Given the description of an element on the screen output the (x, y) to click on. 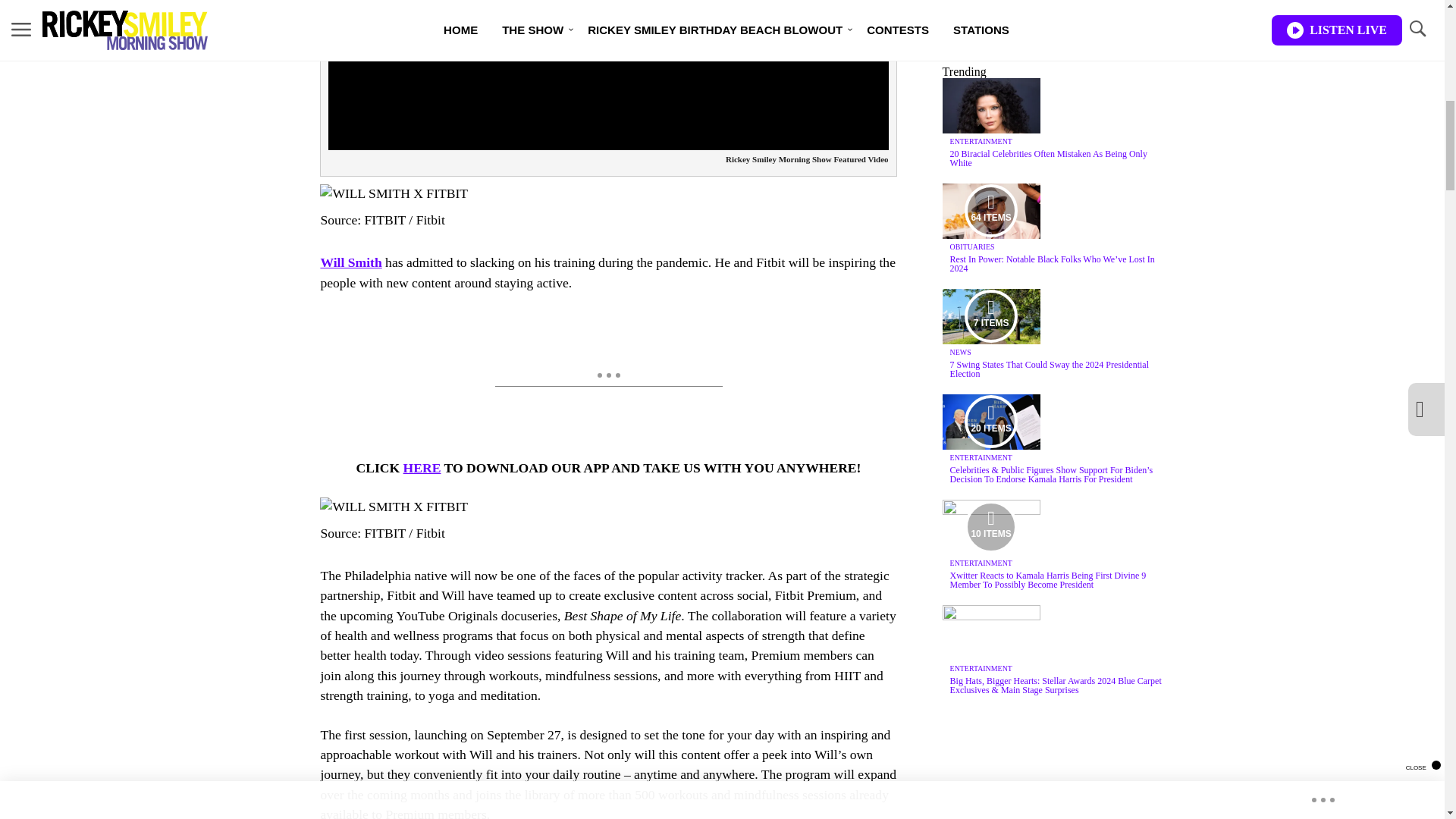
Media Playlist (990, 526)
Media Playlist (990, 210)
Will Smith (350, 262)
Media Playlist (990, 316)
HERE (422, 467)
Media Playlist (990, 420)
